Given the description of an element on the screen output the (x, y) to click on. 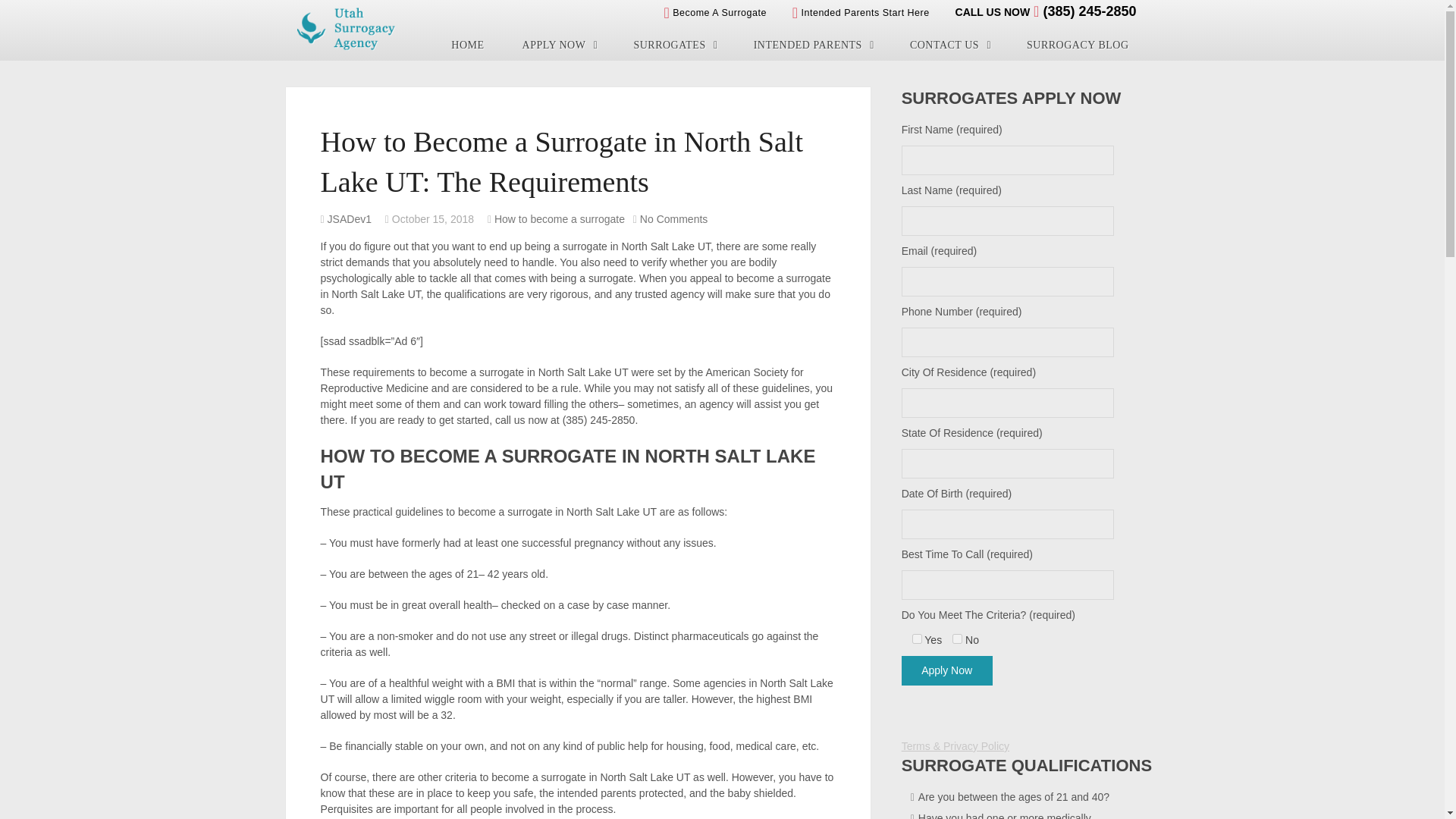
Intended Parents Start Here (861, 12)
No (957, 638)
Apply Now (946, 670)
Yes (916, 638)
Posts by JSADev1 (349, 218)
Become A Surrogate (714, 12)
View all posts in How to become a surrogate (559, 218)
Surrogates Apply Now! (558, 45)
